Given the description of an element on the screen output the (x, y) to click on. 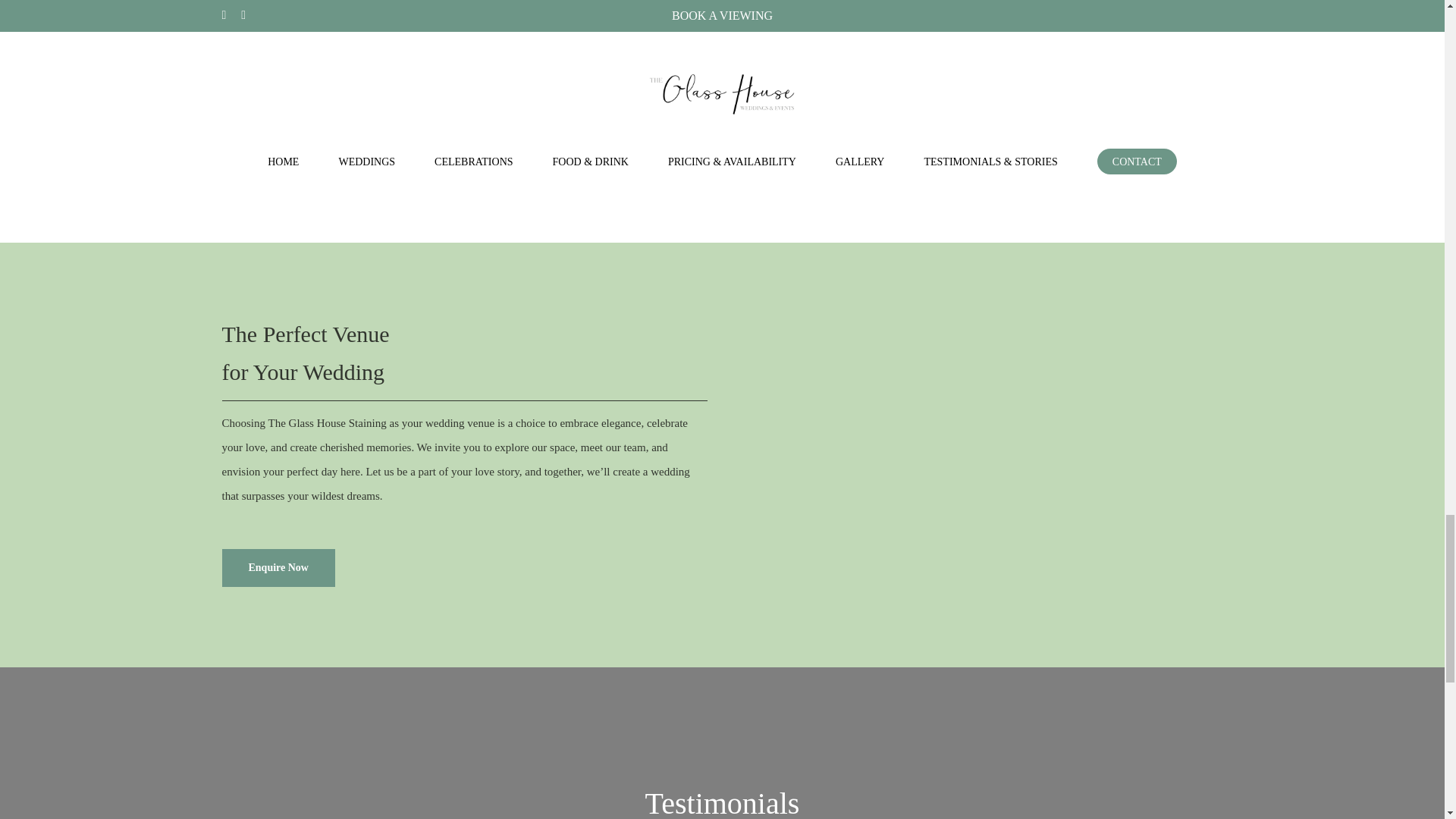
Enquire Now (277, 567)
